Given the description of an element on the screen output the (x, y) to click on. 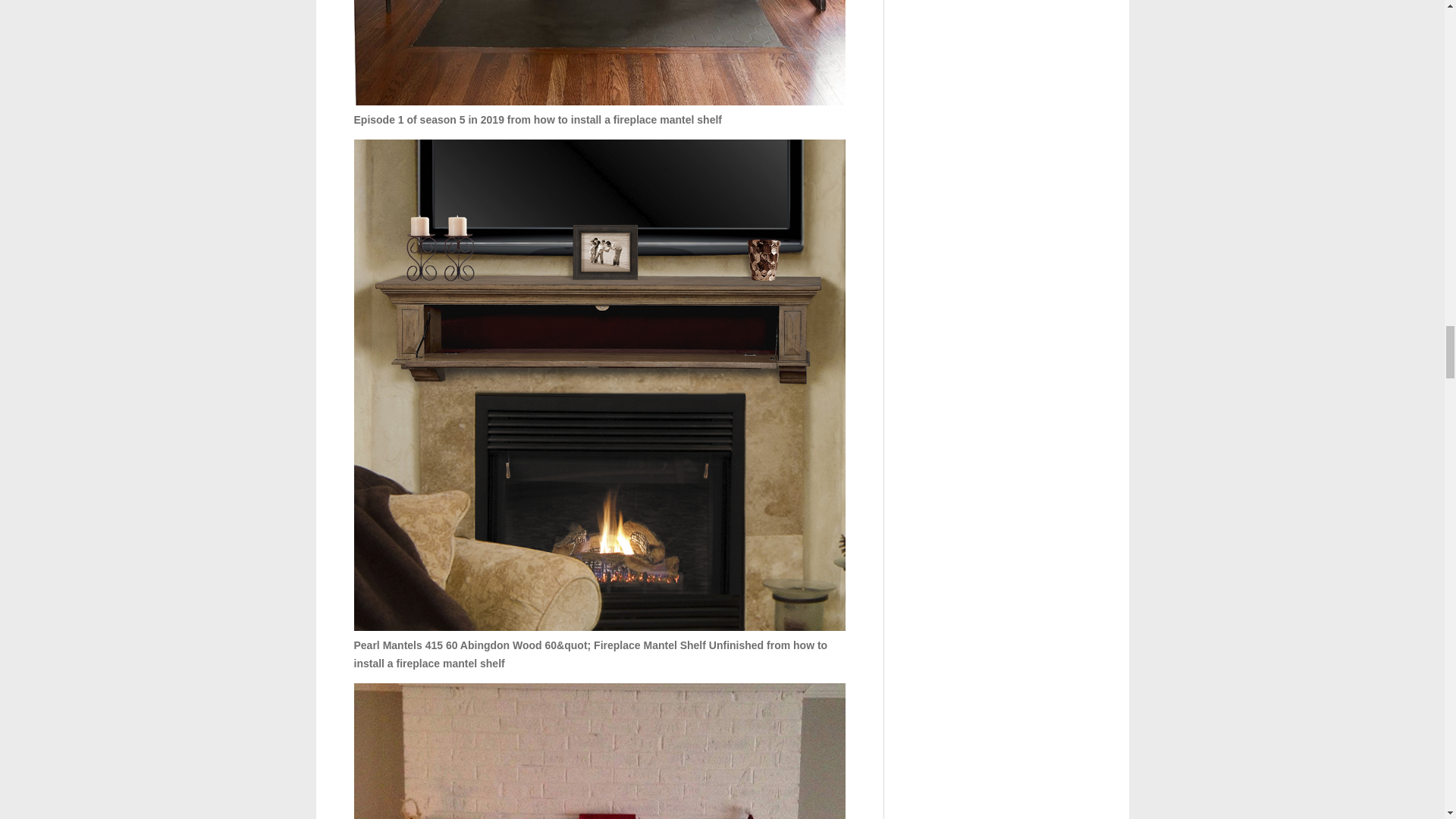
Episode 1 of season 5 in 2019 (598, 52)
